Given the description of an element on the screen output the (x, y) to click on. 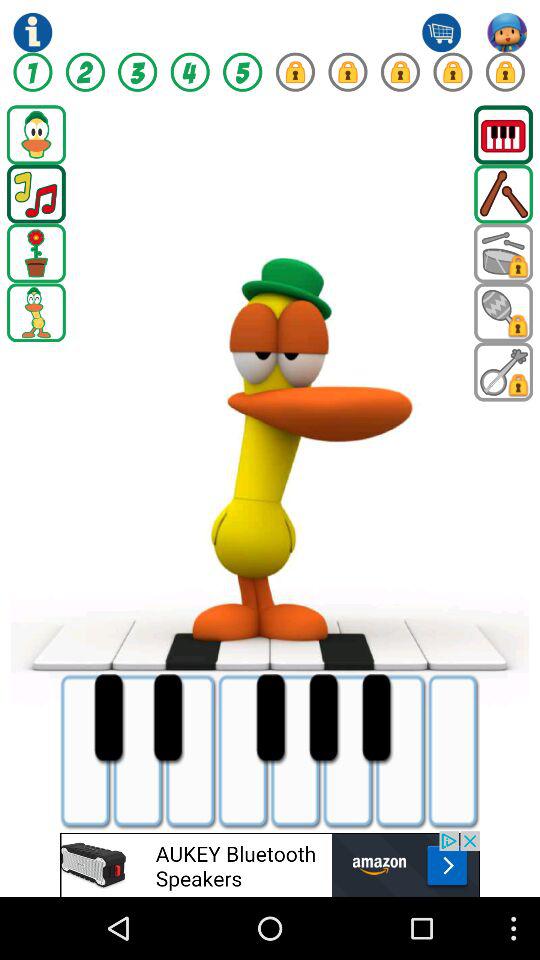
games (503, 134)
